Given the description of an element on the screen output the (x, y) to click on. 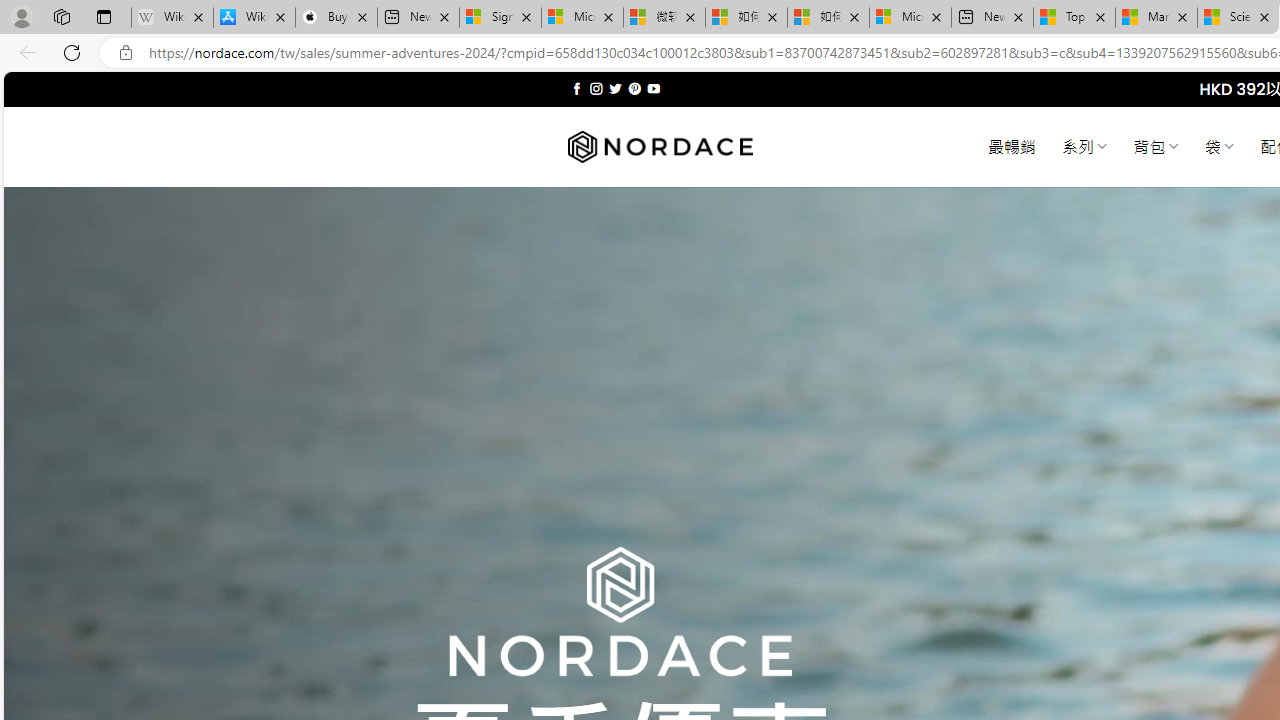
Microsoft account | Account Checkup (910, 17)
Follow on Twitter (615, 88)
Top Stories - MSN (1074, 17)
Marine life - MSN (1156, 17)
Sign in to your Microsoft account (500, 17)
